Given the description of an element on the screen output the (x, y) to click on. 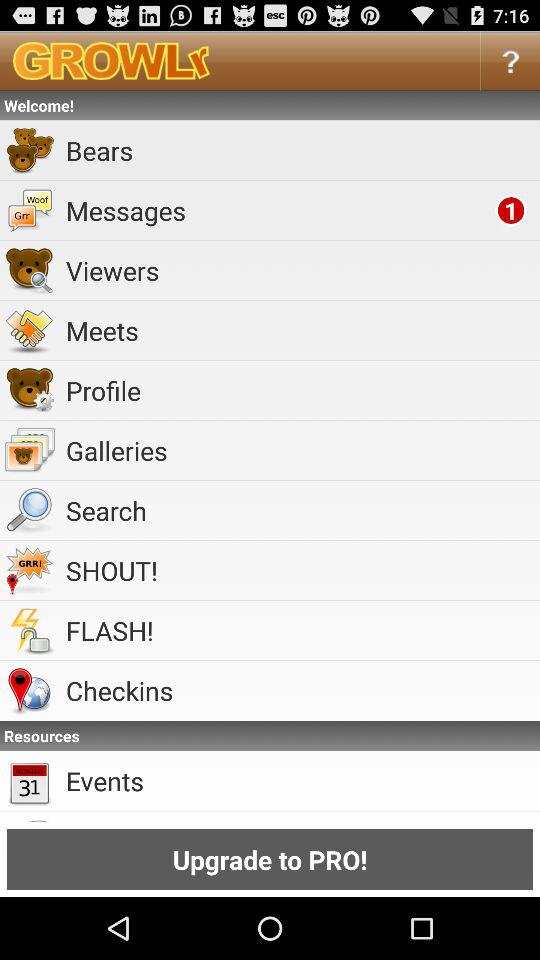
open the app above the flash! app (299, 570)
